Given the description of an element on the screen output the (x, y) to click on. 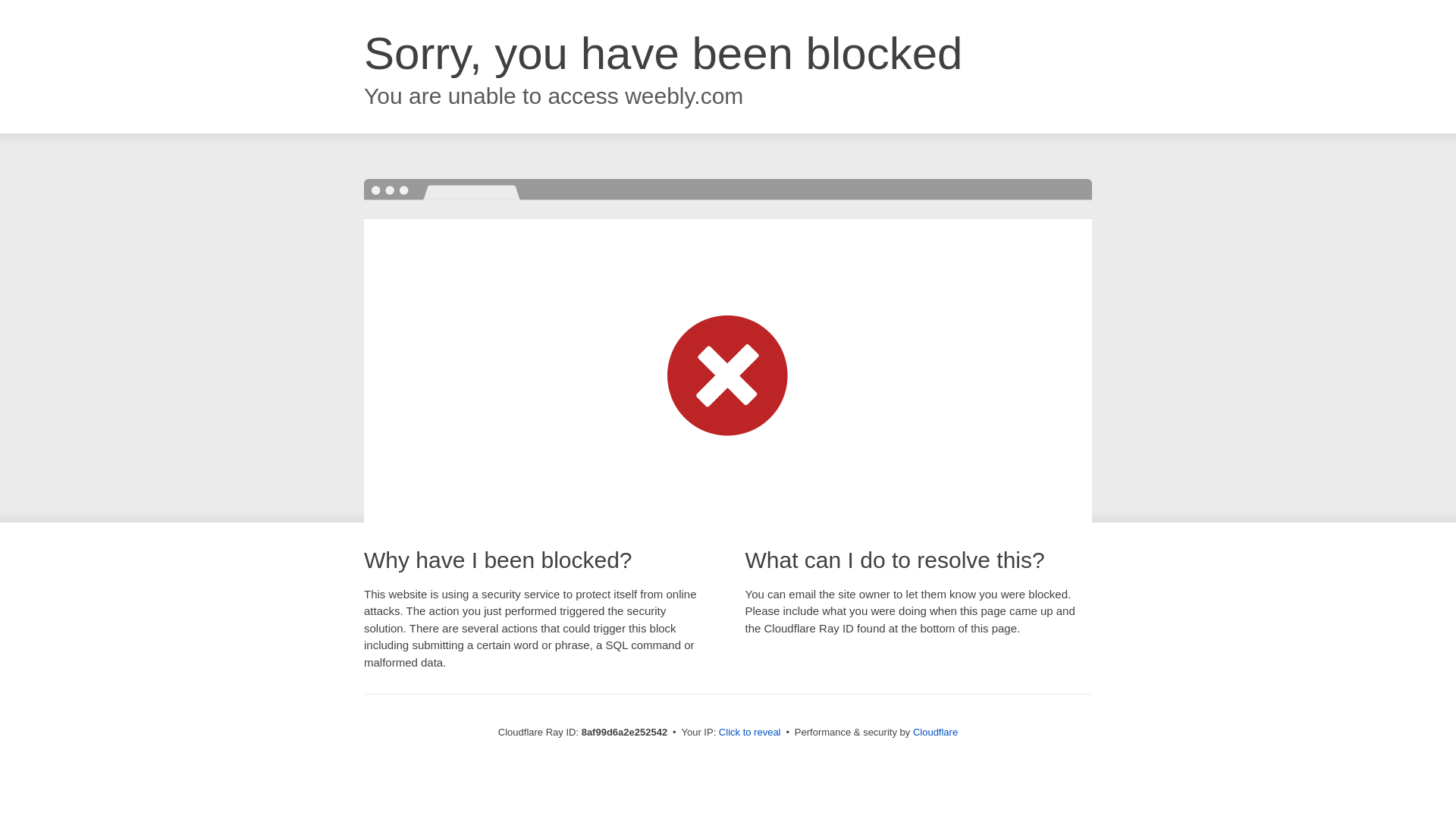
Cloudflare (935, 731)
Click to reveal (749, 732)
